Given the description of an element on the screen output the (x, y) to click on. 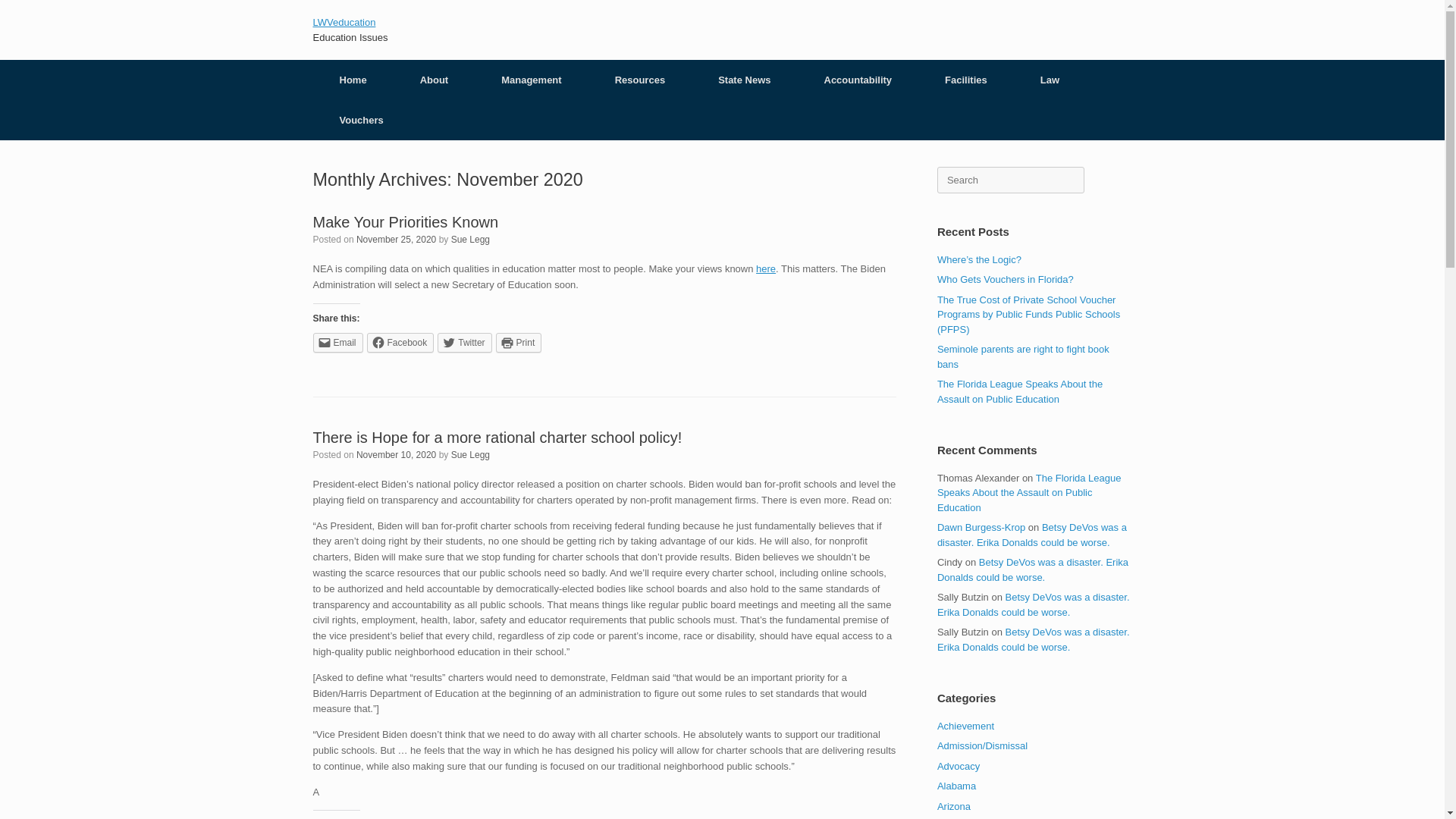
4:52 pm (395, 239)
Click to share on Facebook (399, 342)
Make Your Priorities Known (405, 221)
6:52 pm (395, 454)
There is Hope for a more rational charter school policy! (497, 437)
November 25, 2020 (395, 239)
Dawn Burgess-Krop (981, 527)
Click to share on Twitter (465, 342)
View all posts by Sue Legg (470, 454)
Sue Legg (470, 239)
Twitter (465, 342)
About (434, 79)
Search (31, 14)
Seminole parents are right to fight book bans (1023, 356)
